Given the description of an element on the screen output the (x, y) to click on. 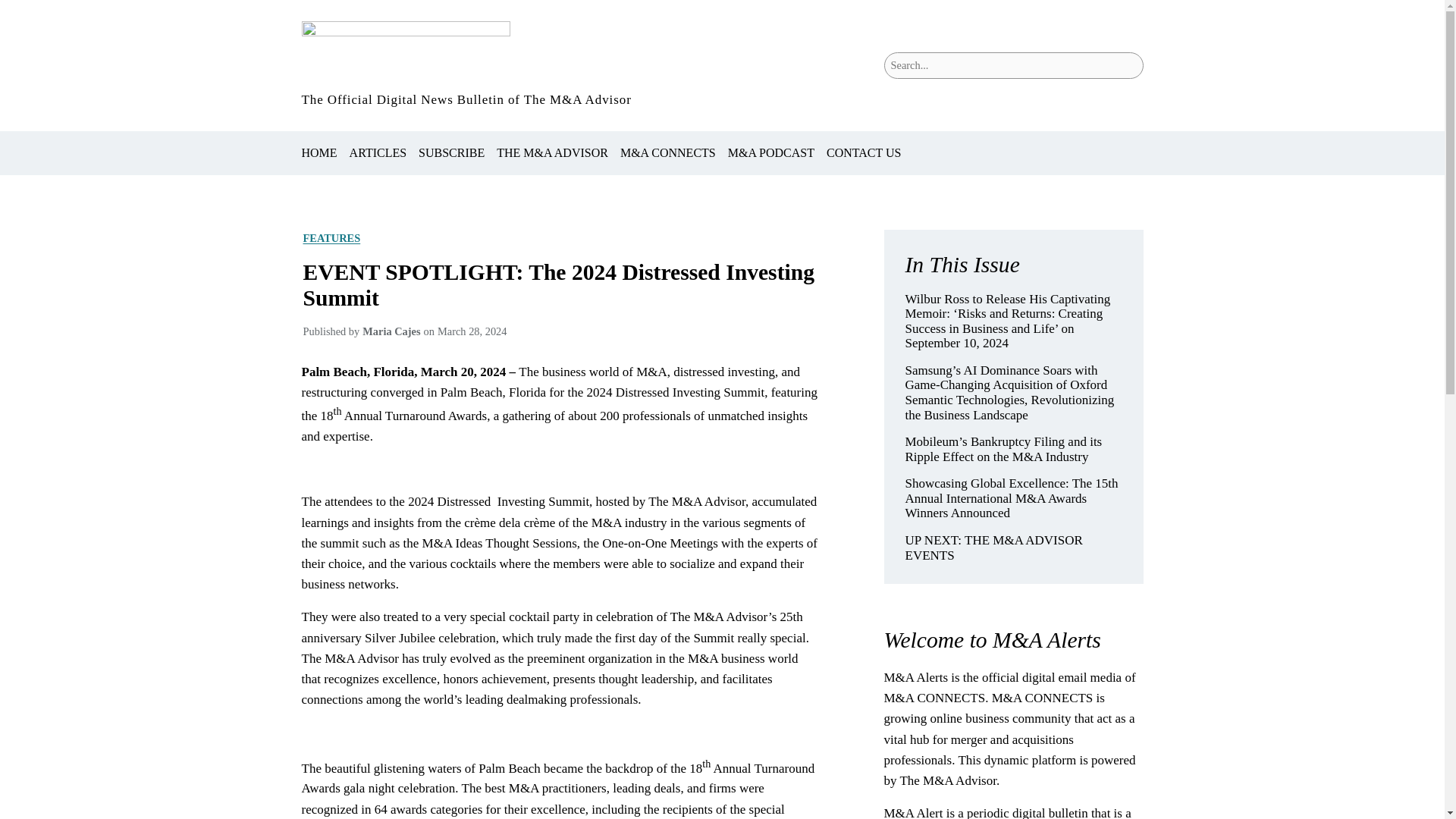
FEATURES (331, 237)
EVENT SPOTLIGHT: The 2024 Distressed Investing Summit (560, 285)
HOME (319, 152)
CONTACT US (864, 152)
SUBSCRIBE (451, 152)
ARTICLES (377, 152)
March 28, 2024 (472, 331)
